Given the description of an element on the screen output the (x, y) to click on. 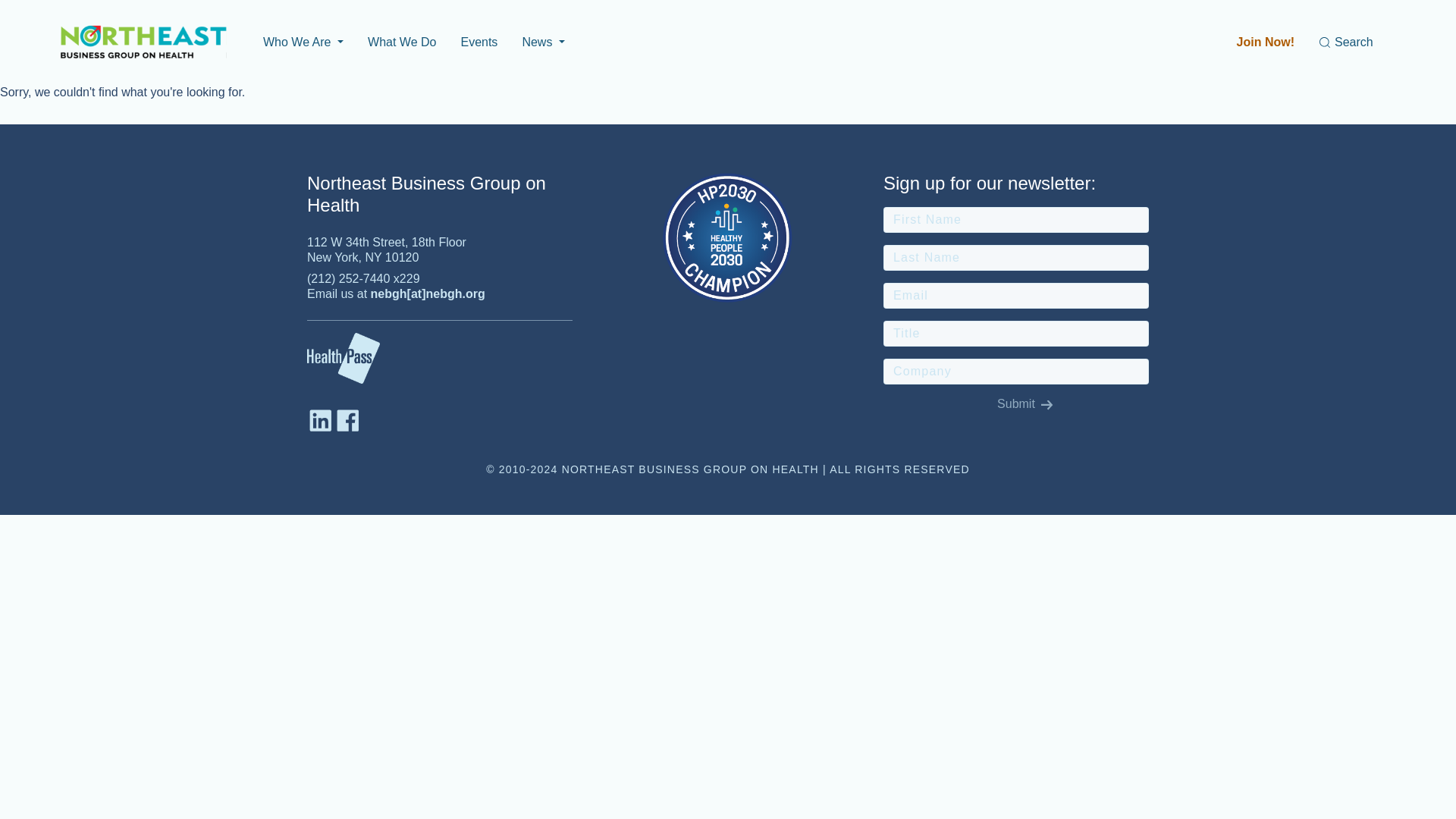
Submit (1015, 403)
Who We Are (302, 42)
Join Now! (1265, 42)
Visit NEBGH Home Page (144, 42)
Submit (1015, 403)
News (542, 42)
What We Do (401, 42)
Events (478, 42)
